Given the description of an element on the screen output the (x, y) to click on. 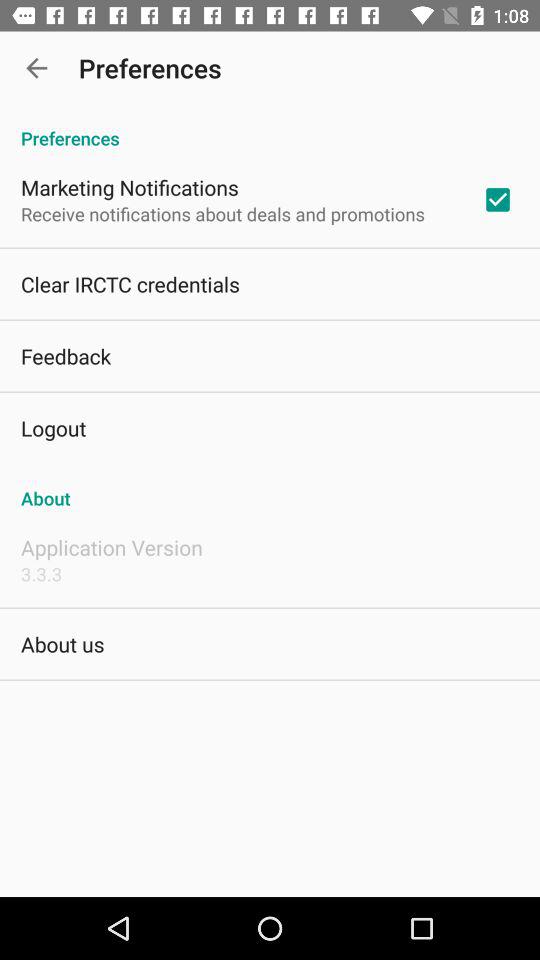
press feedback (66, 355)
